Given the description of an element on the screen output the (x, y) to click on. 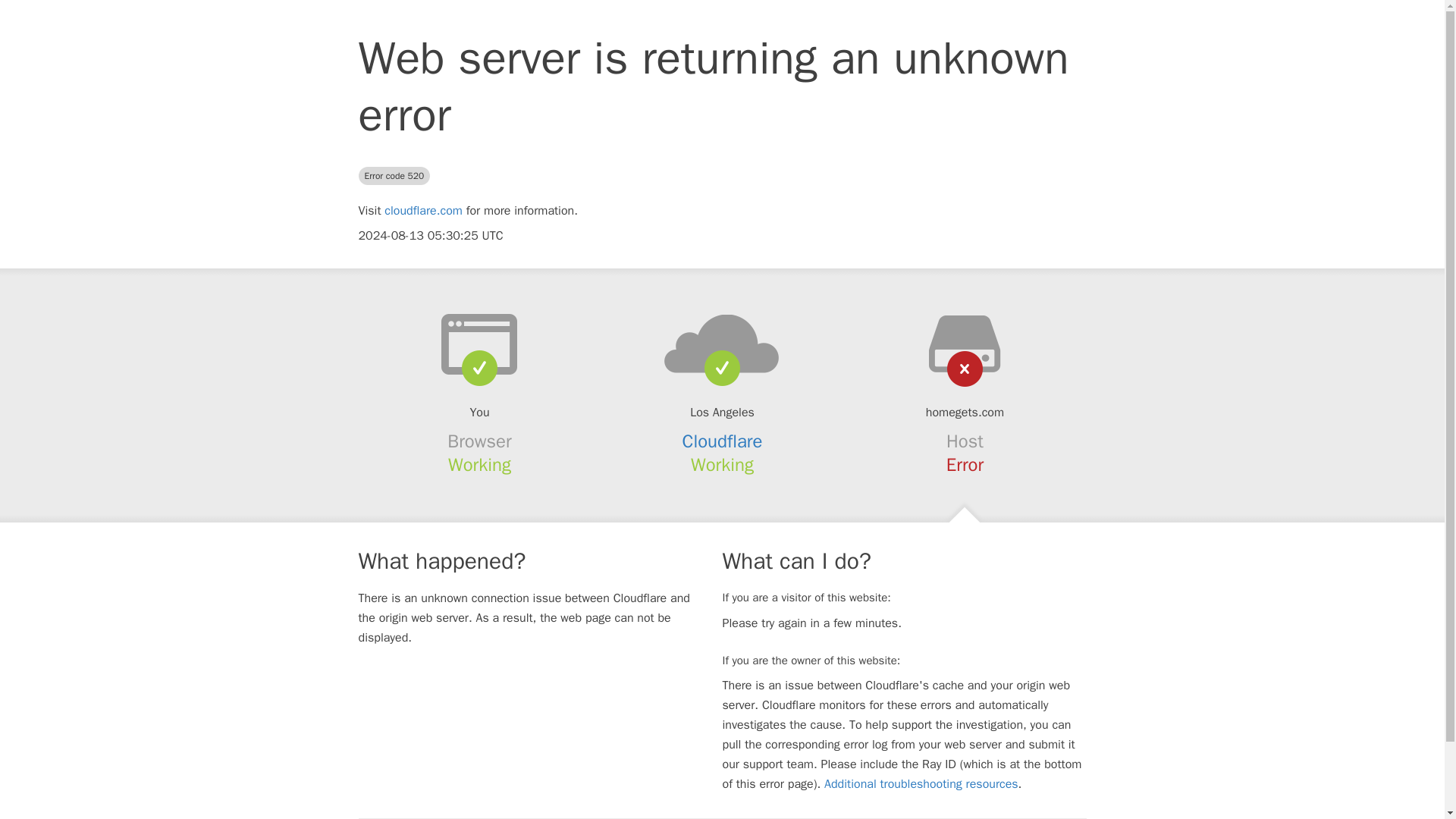
cloudflare.com (423, 210)
Additional troubleshooting resources (920, 783)
Cloudflare (722, 440)
